Given the description of an element on the screen output the (x, y) to click on. 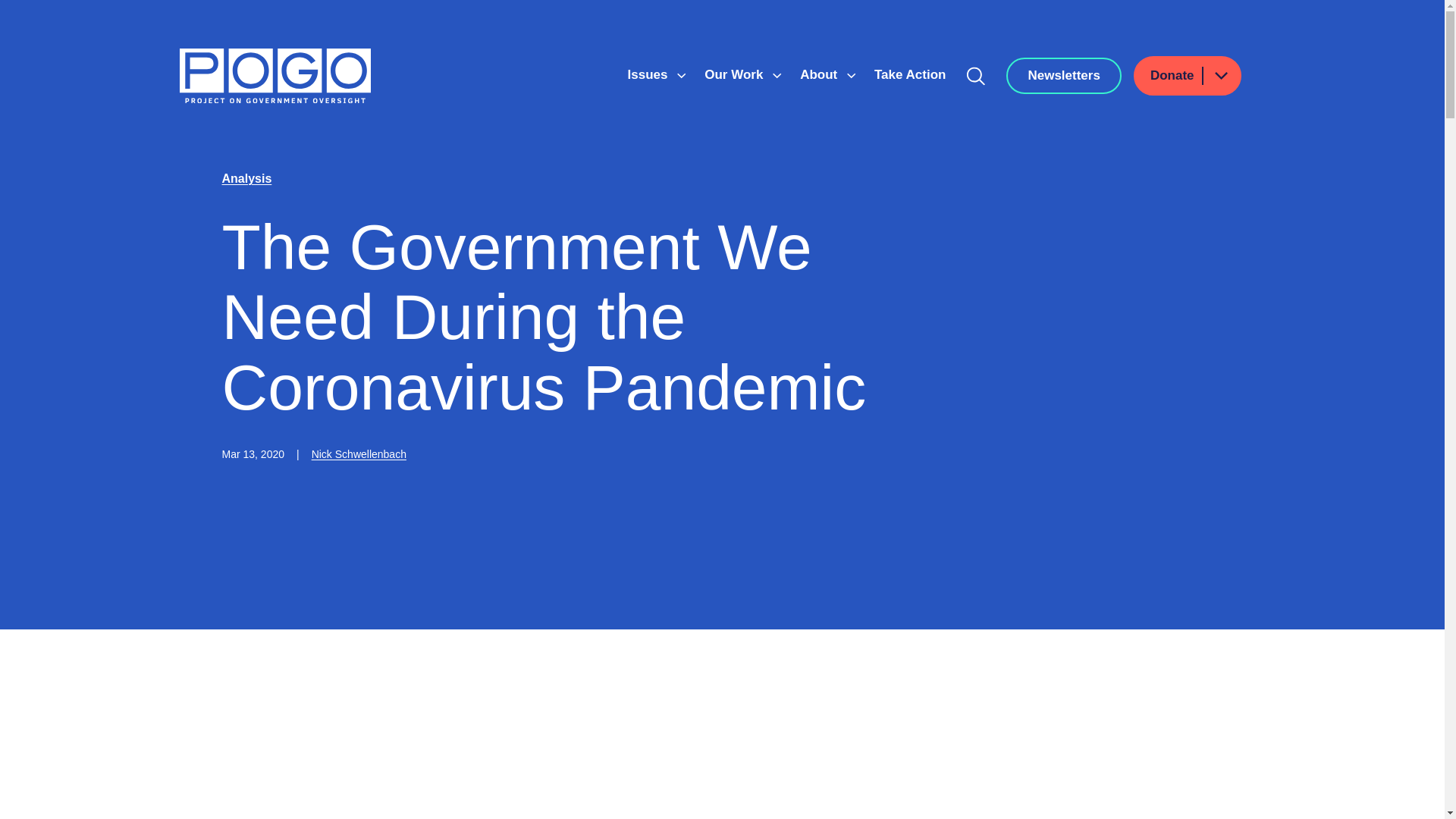
Show submenu for Our Work (777, 75)
Donate (1187, 75)
Show submenu for Issues (681, 75)
Show submenu for Donate (1220, 75)
Home (274, 75)
Take Action (909, 74)
About (820, 74)
Show submenu for About (851, 75)
Our Work (735, 74)
Issues (649, 74)
